Given the description of an element on the screen output the (x, y) to click on. 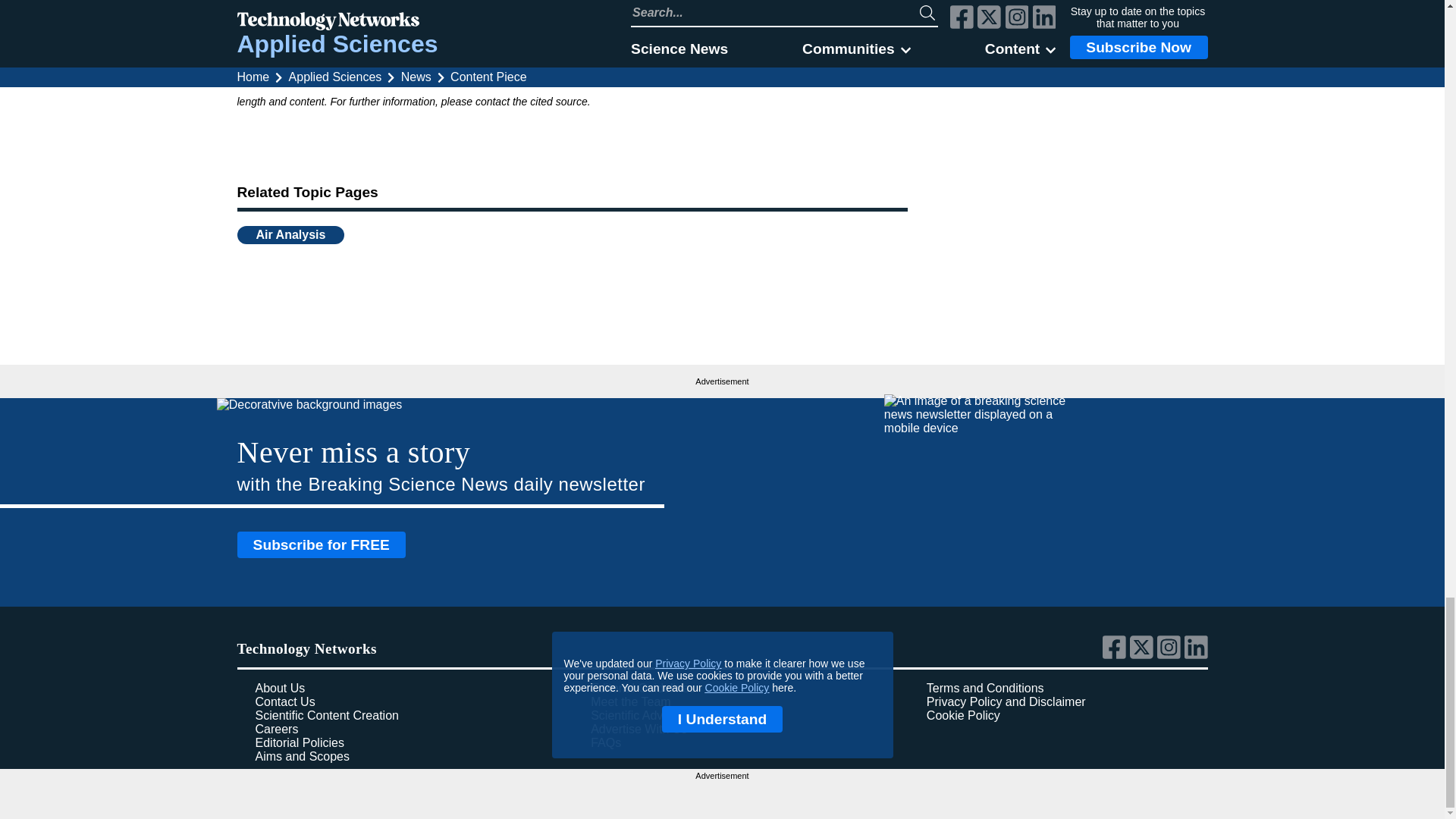
Link to Technology Networks' facebook page (1115, 655)
Link to Technology Networks' instagram page (1171, 655)
Link to Technology Networks' twitter page (1143, 655)
Link to Technology Networks' linkedin page (1196, 655)
